Given the description of an element on the screen output the (x, y) to click on. 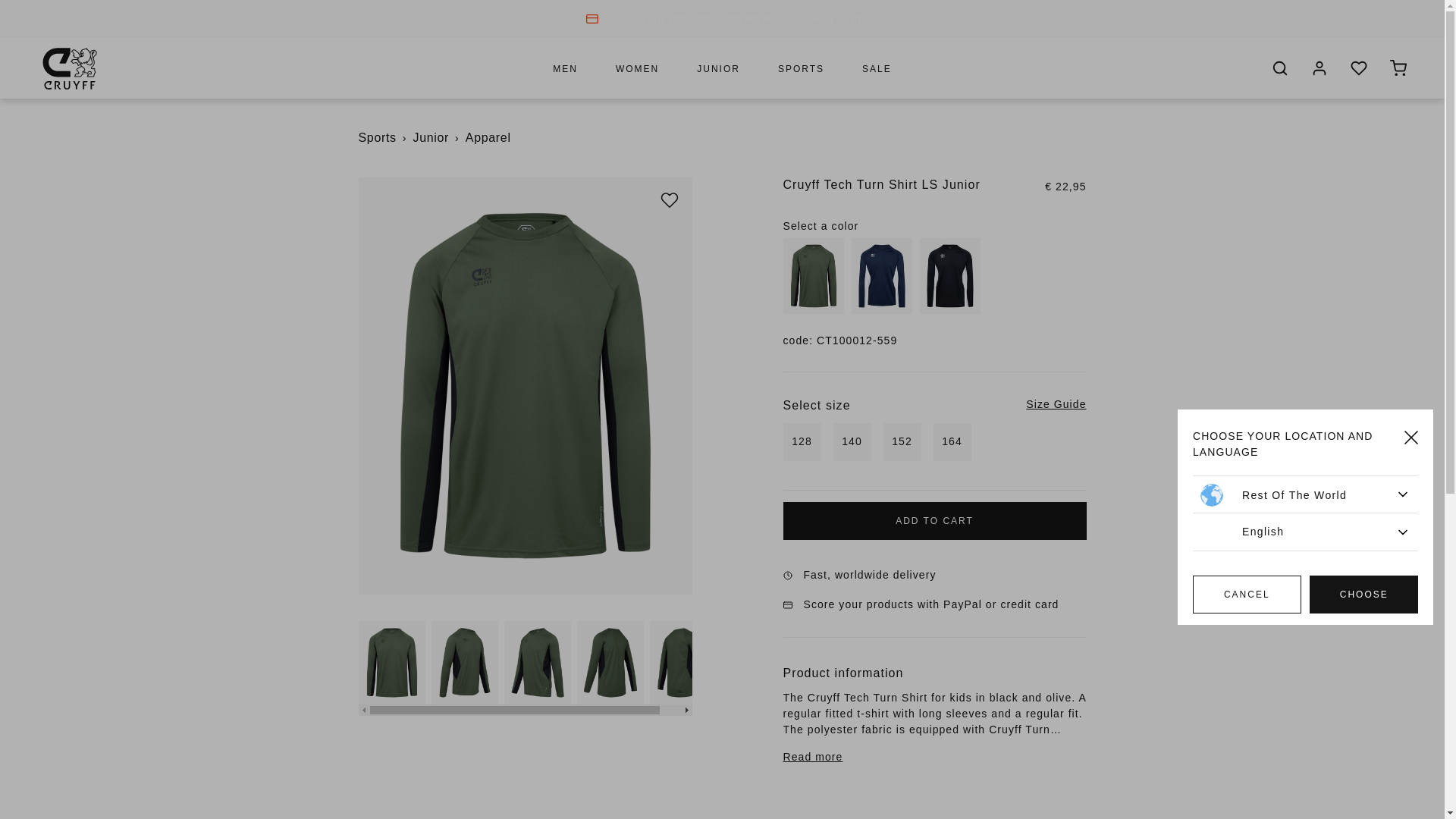
Score your products with PayPal or credit card (733, 18)
WOMEN (637, 67)
MEN (565, 67)
Commerce Cloud Storefront Reference Architecture Home (69, 67)
Wishlist (668, 200)
